Given the description of an element on the screen output the (x, y) to click on. 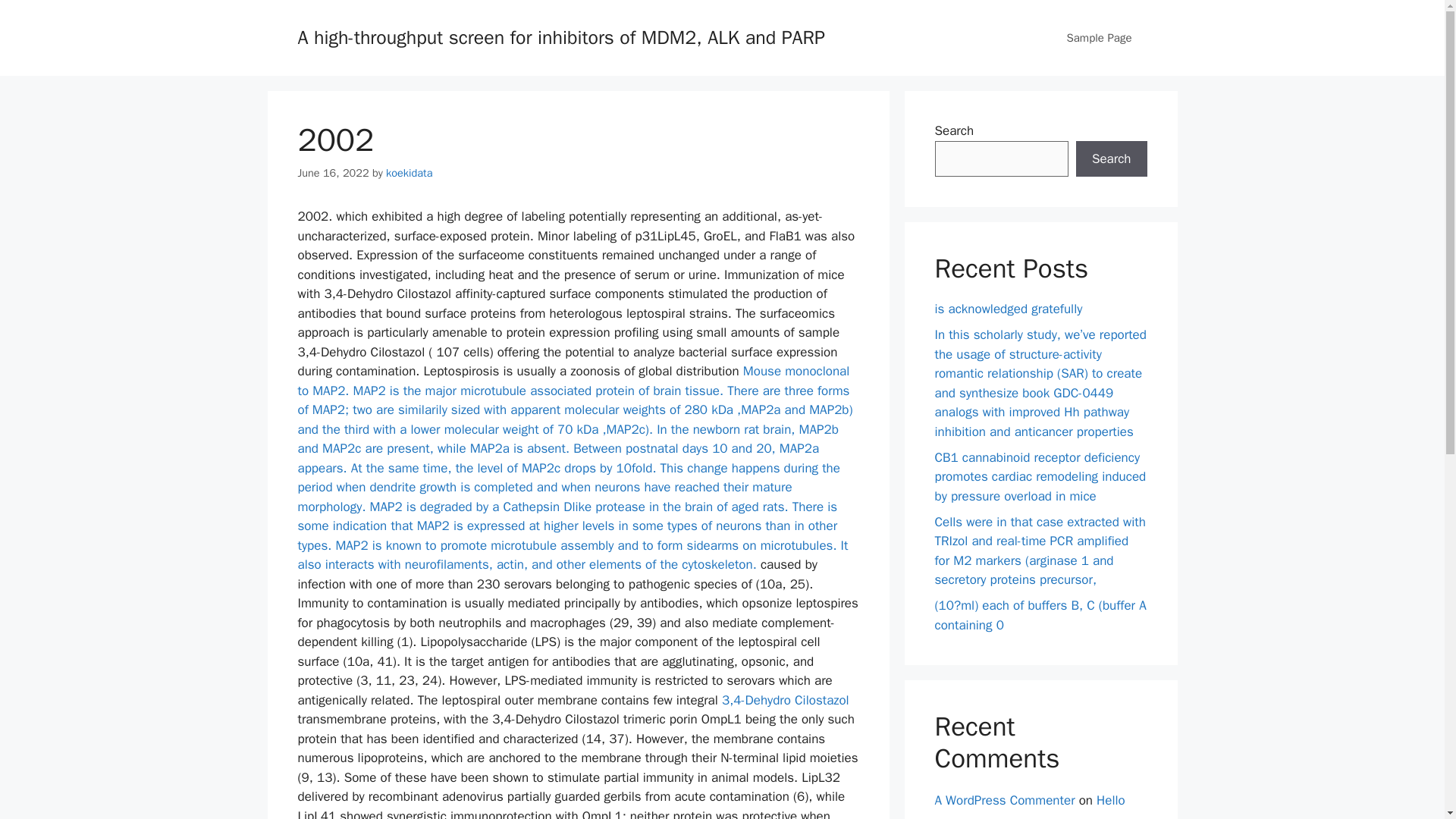
Hello world! (1029, 805)
View all posts by koekidata (408, 172)
koekidata (408, 172)
Search (1111, 158)
A WordPress Commenter (1004, 800)
is acknowledged gratefully (1007, 308)
3,4-Dehydro Cilostazol (785, 700)
Sample Page (1099, 37)
